Given the description of an element on the screen output the (x, y) to click on. 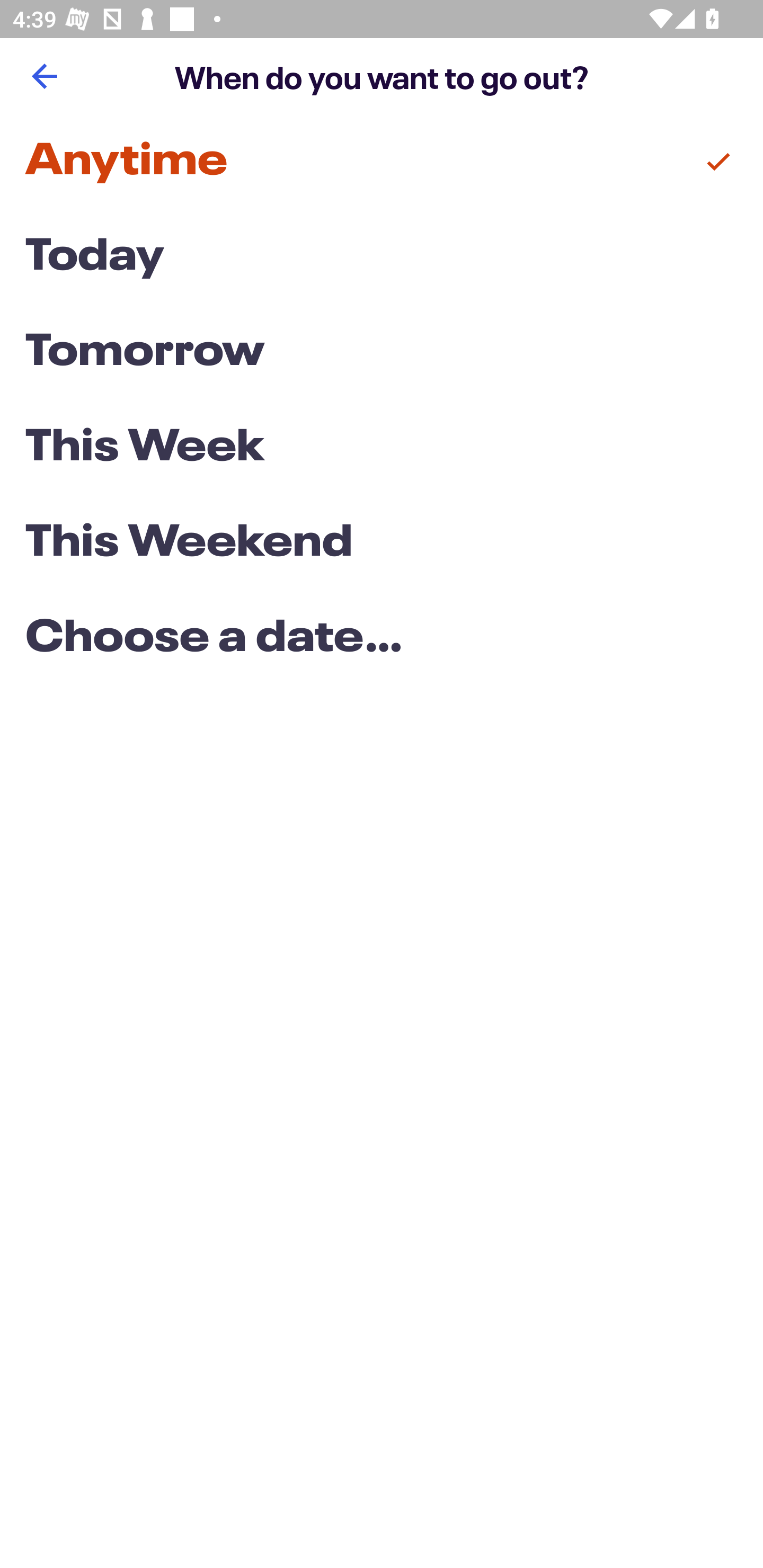
Back button (44, 75)
Anytime (381, 161)
Today (381, 257)
Tomorrow (381, 352)
This Week (381, 447)
This Weekend (381, 542)
Choose a date… (381, 638)
